Given the description of an element on the screen output the (x, y) to click on. 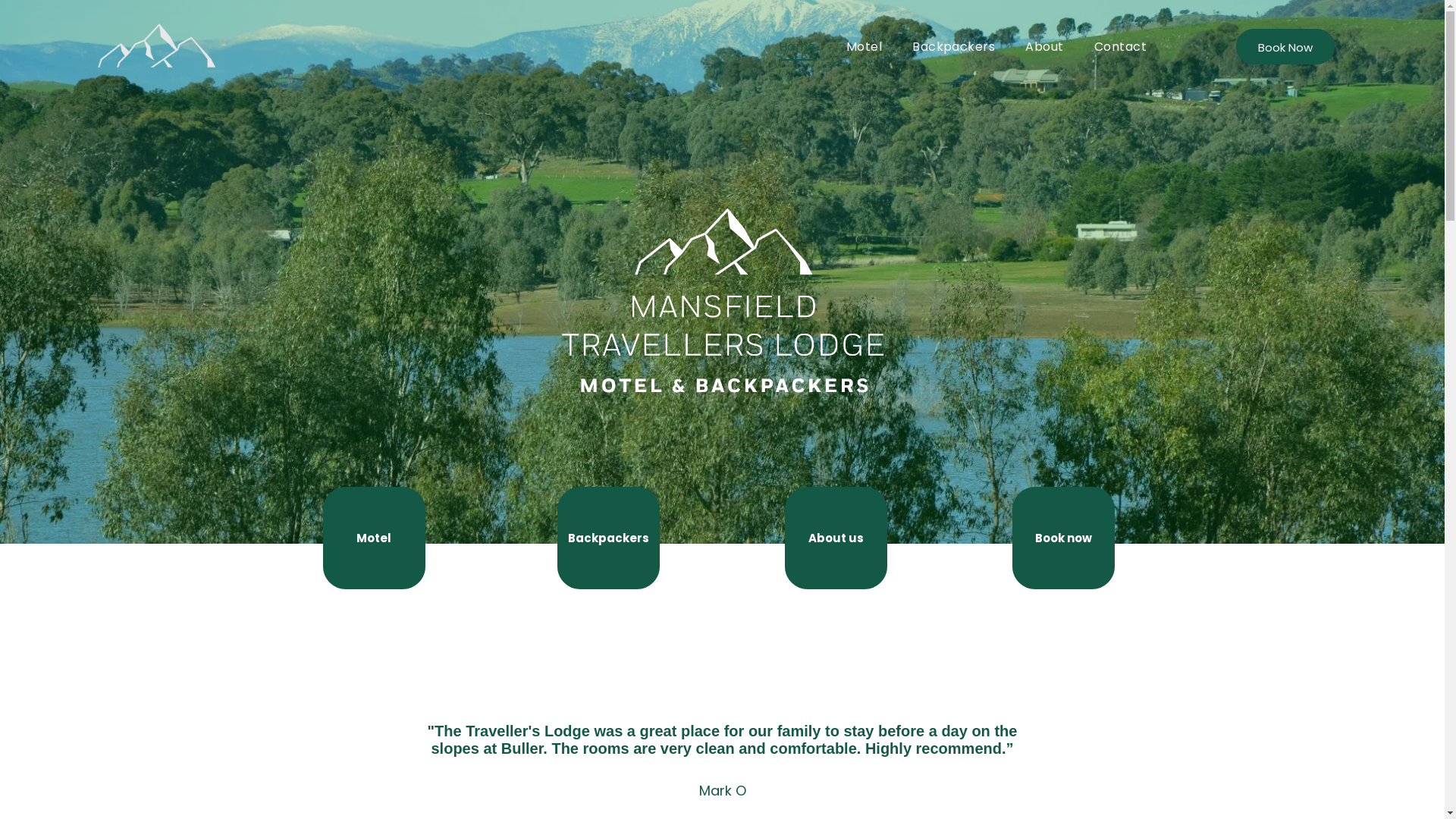
Motel Element type: text (374, 537)
About us Element type: text (835, 537)
Book now Element type: text (1063, 537)
Contact Element type: text (1120, 46)
Book Now Element type: text (1285, 46)
Backpackers Element type: text (953, 46)
About Element type: text (1044, 46)
Motel Element type: text (864, 46)
Home Element type: text (797, 46)
Backpackers Element type: text (608, 537)
